Given the description of an element on the screen output the (x, y) to click on. 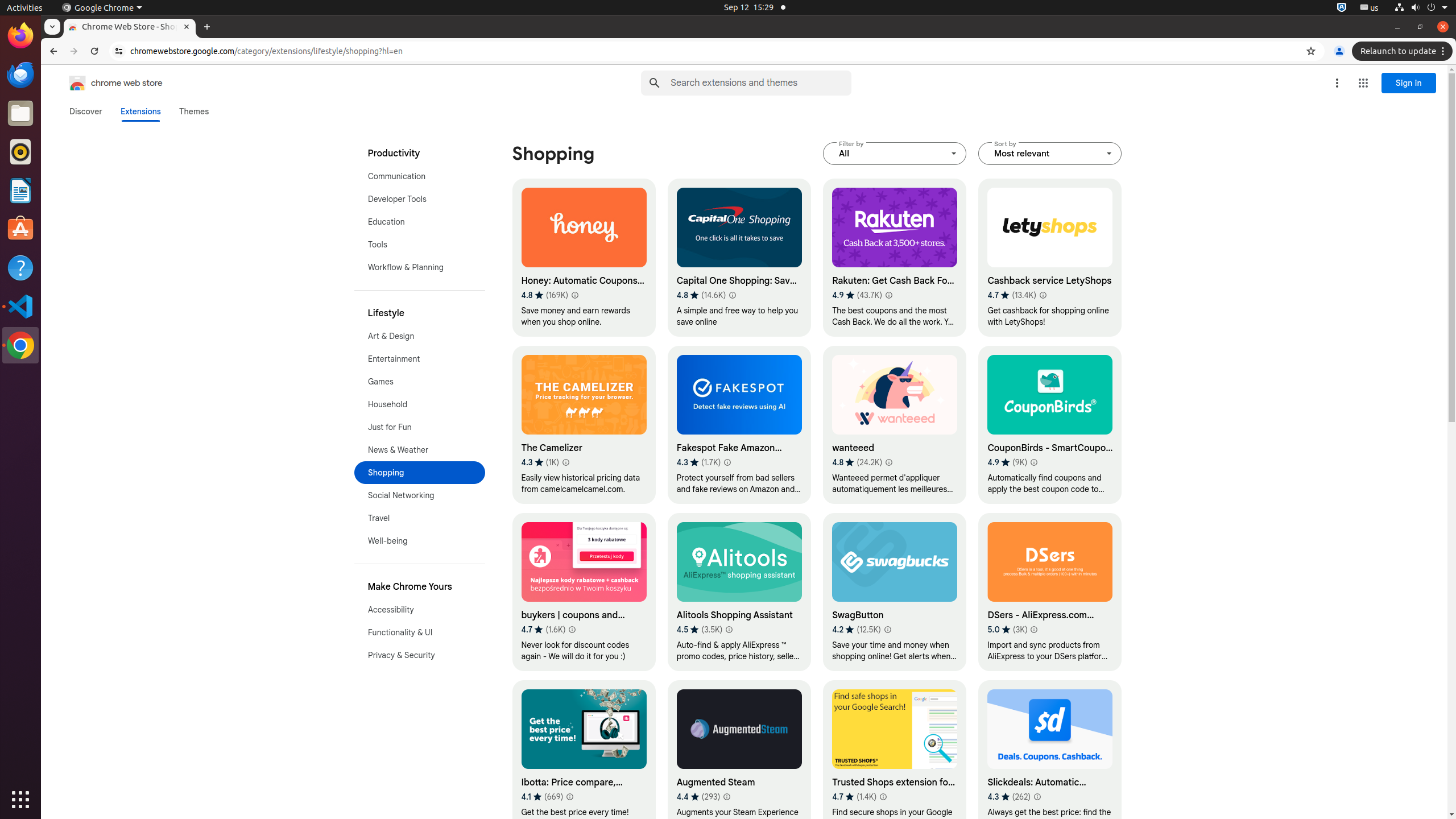
Thunderbird Mail Element type: push-button (20, 74)
Learn more about results and reviews "Trusted Shops extension for Google Chrome" Element type: push-button (882, 796)
Art & Design Element type: menu-item (419, 335)
Learn more about results and reviews "wanteeed" Element type: push-button (888, 462)
Learn more about results and reviews "Capital One Shopping: Save Now" Element type: push-button (731, 295)
